Given the description of an element on the screen output the (x, y) to click on. 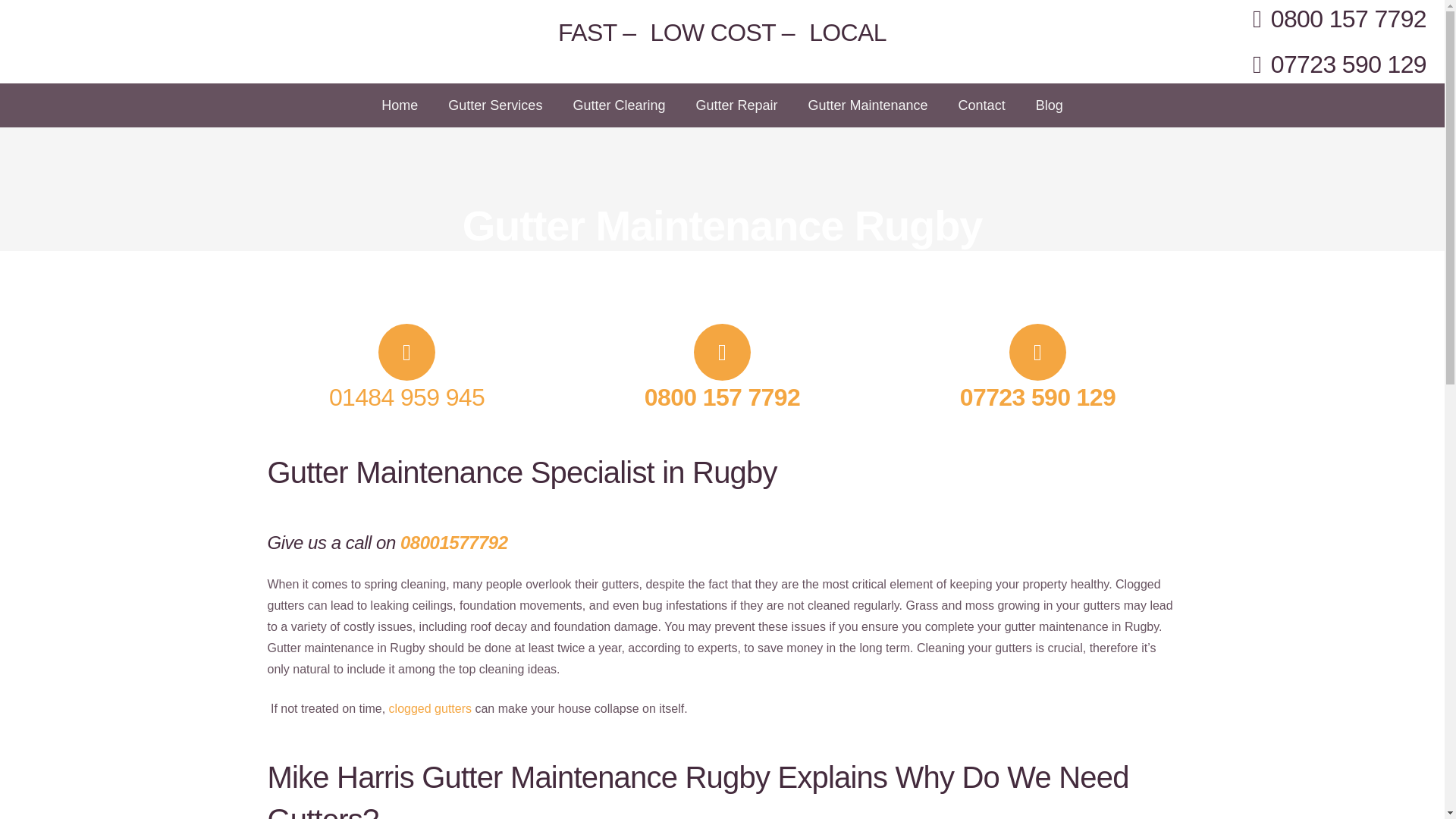
Premier (529, 437)
clogged gutters (429, 707)
Services (832, 721)
Blog (1049, 105)
Gutter Services (494, 105)
Gutter Maintenance (868, 105)
Gutter Repair (735, 105)
Gutter Clearing (618, 105)
0800 157 7792 (1058, 408)
Sitemap (697, 742)
IFAW (522, 476)
Home (399, 105)
Instant Quote (911, 721)
Coronavirus (759, 721)
Home (691, 721)
